Given the description of an element on the screen output the (x, y) to click on. 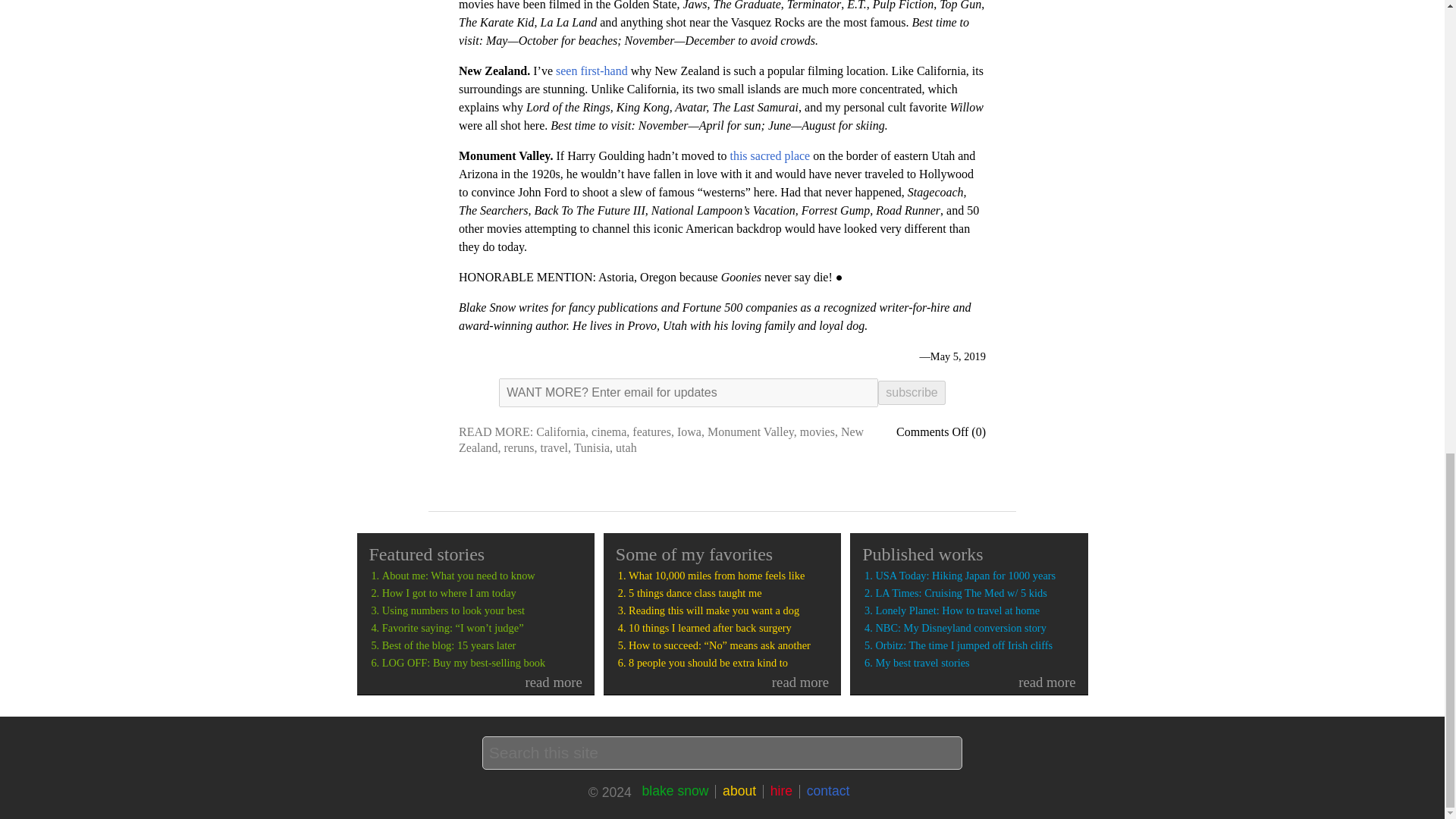
8 people you should be extra kind to (728, 662)
Tunisia (591, 447)
About me: What you need to know (481, 575)
New Zealand (660, 439)
How I got to where I am today (481, 593)
California (560, 431)
this sacred place (769, 155)
10 things I learned after back surgery (728, 627)
Using numbers to look your best (481, 610)
What 10,000 miles from home feels like (728, 575)
Best of the blog: 15 years later (481, 645)
cinema (608, 431)
Reading this will make you want a dog (728, 610)
5 things dance class taught me (728, 593)
LOG OFF: Buy my best-selling book (481, 662)
